Given the description of an element on the screen output the (x, y) to click on. 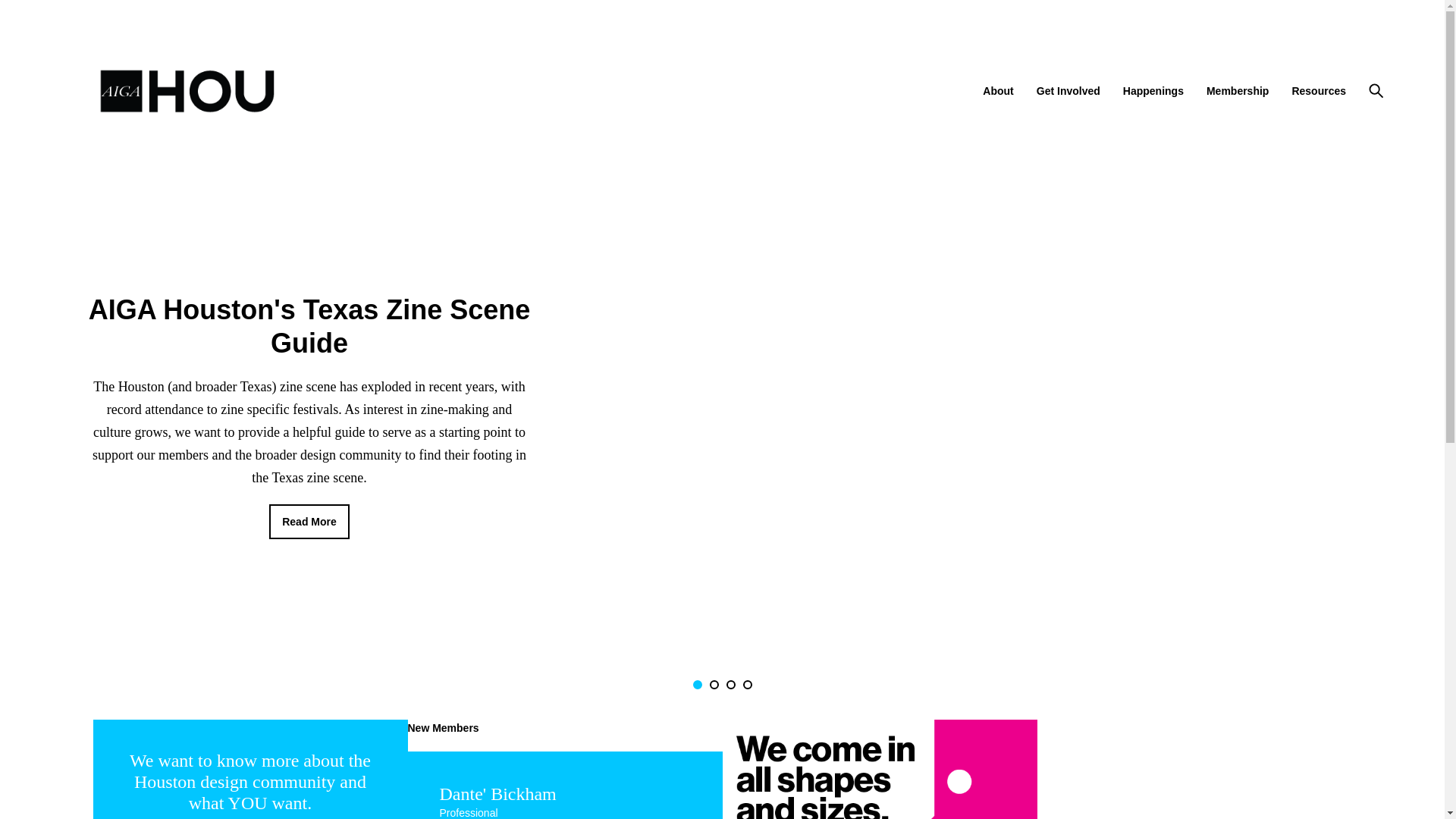
About (997, 91)
Happenings (1152, 91)
Resources (1318, 91)
Get Involved (1068, 91)
Membership (1237, 91)
